Given the description of an element on the screen output the (x, y) to click on. 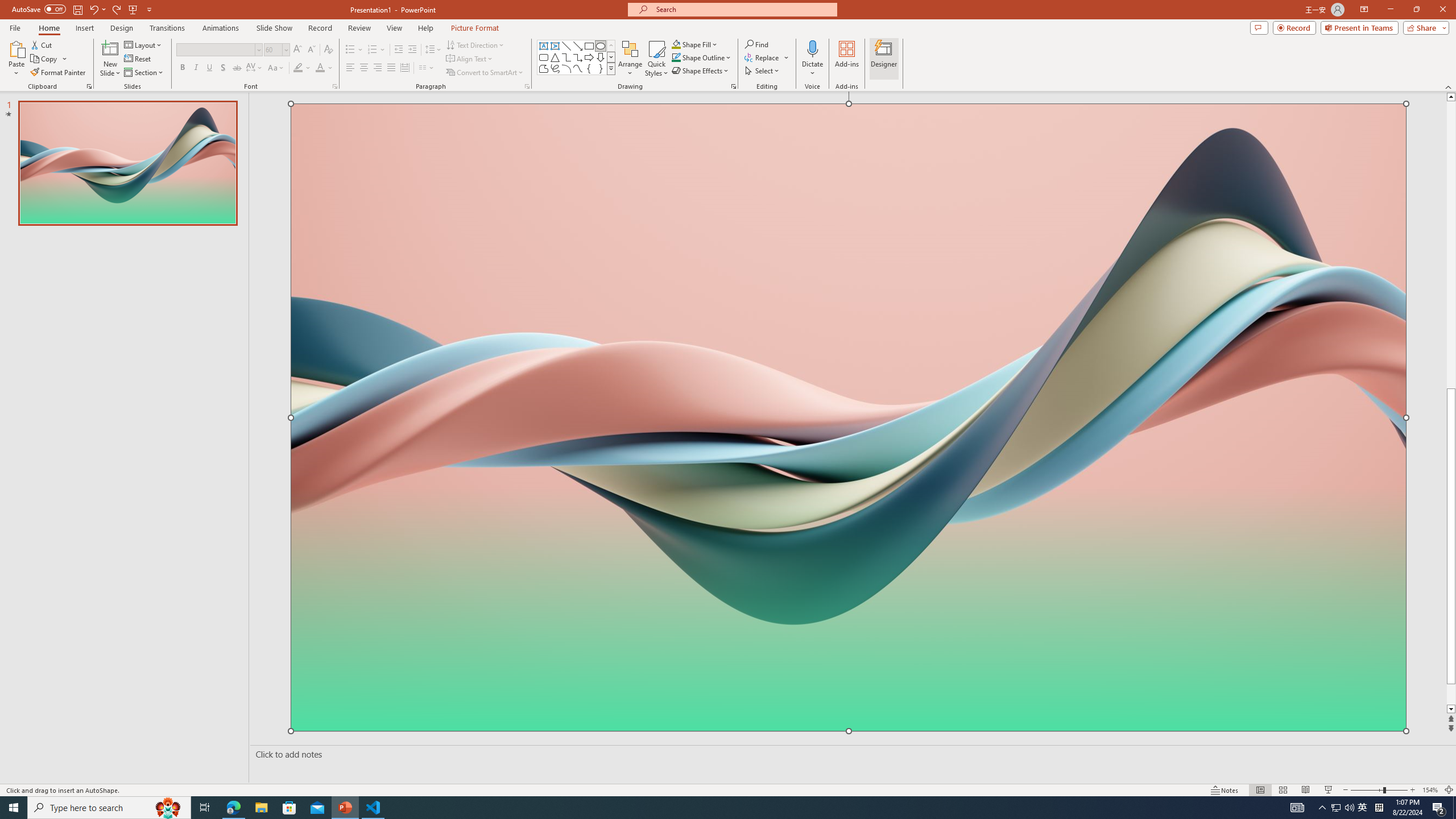
Zoom 154% (1430, 790)
Wavy 3D art (848, 417)
